Given the description of an element on the screen output the (x, y) to click on. 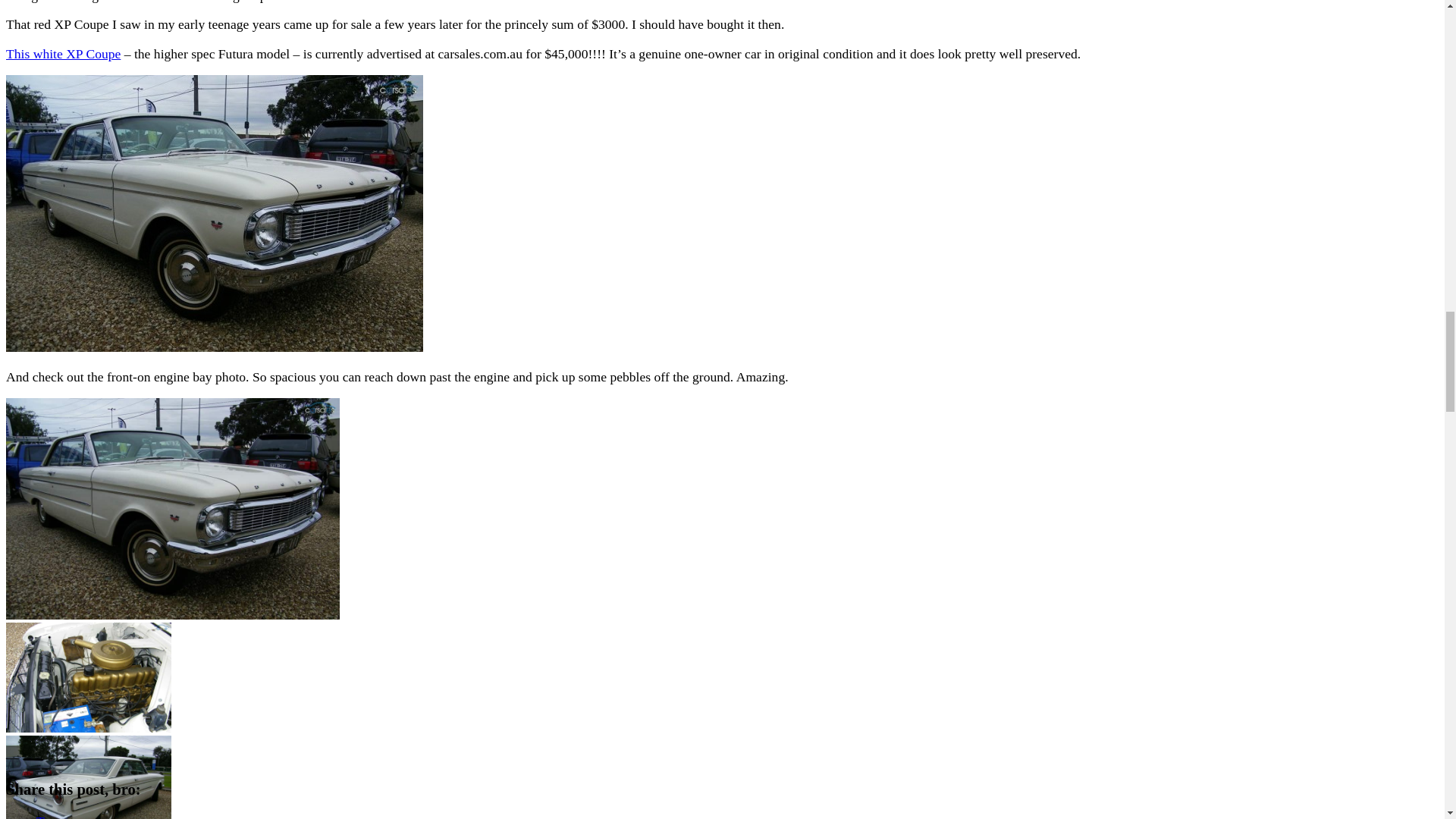
XPFalcon-6 (87, 677)
Ford Falcon XP Coupe (62, 53)
XPFalcon-3 (87, 777)
XPFalcon-1 (172, 508)
Tweet (52, 816)
XPFalcon-2 (88, 777)
This white XP Coupe (62, 53)
XPFalcon-5 (88, 677)
